Given the description of an element on the screen output the (x, y) to click on. 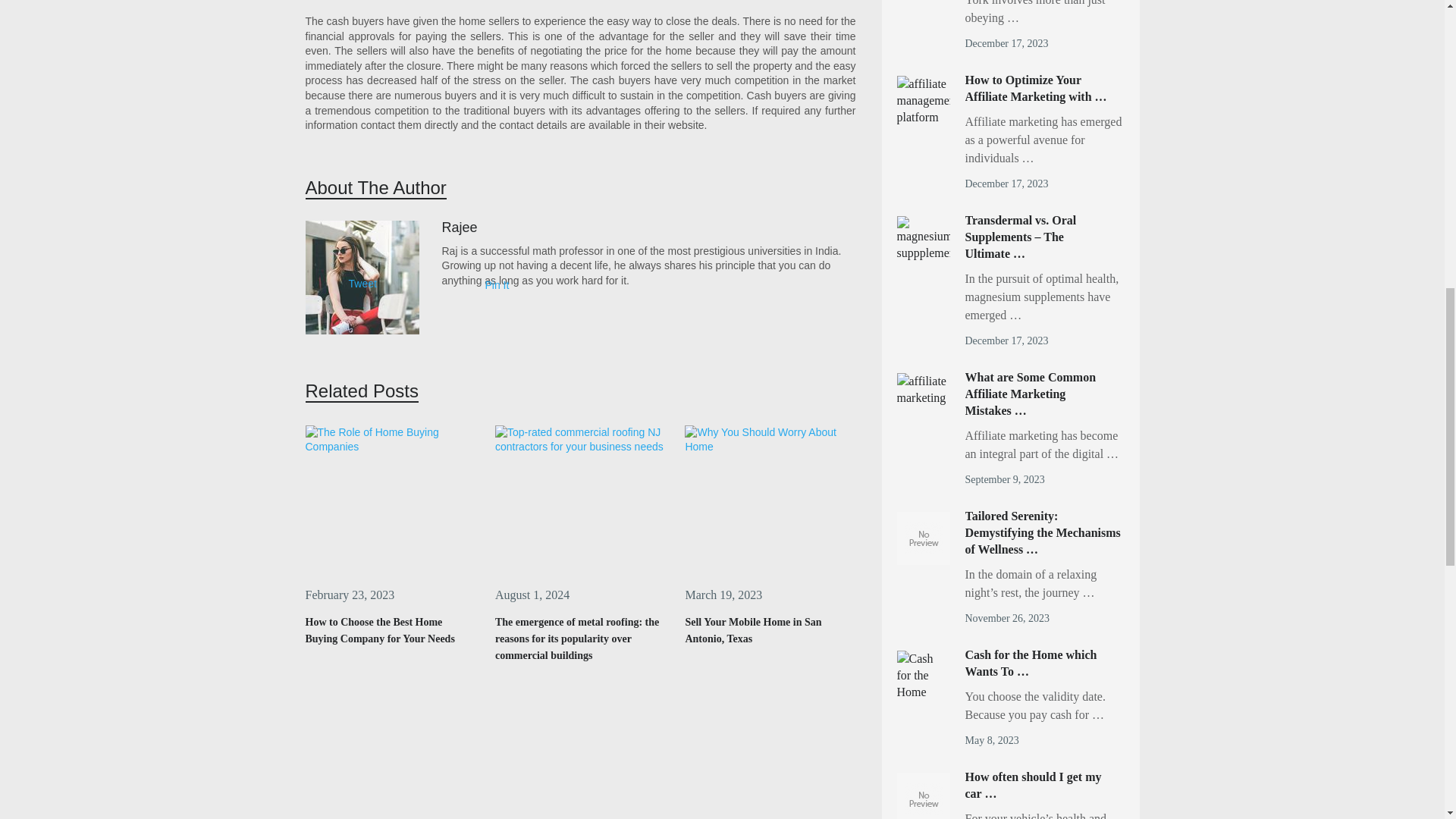
How to Choose the Best Home Buying Company for Your Needs (379, 630)
How to Choose the Best Home Buying Company for Your Needs (379, 630)
Sell Your Mobile Home in San Antonio, Texas (770, 501)
How to Choose the Best Home Buying Company for Your Needs (390, 501)
Rajee (459, 227)
Sell Your Mobile Home in San Antonio, Texas (752, 630)
Sell Your Mobile Home in San Antonio, Texas (752, 630)
